Given the description of an element on the screen output the (x, y) to click on. 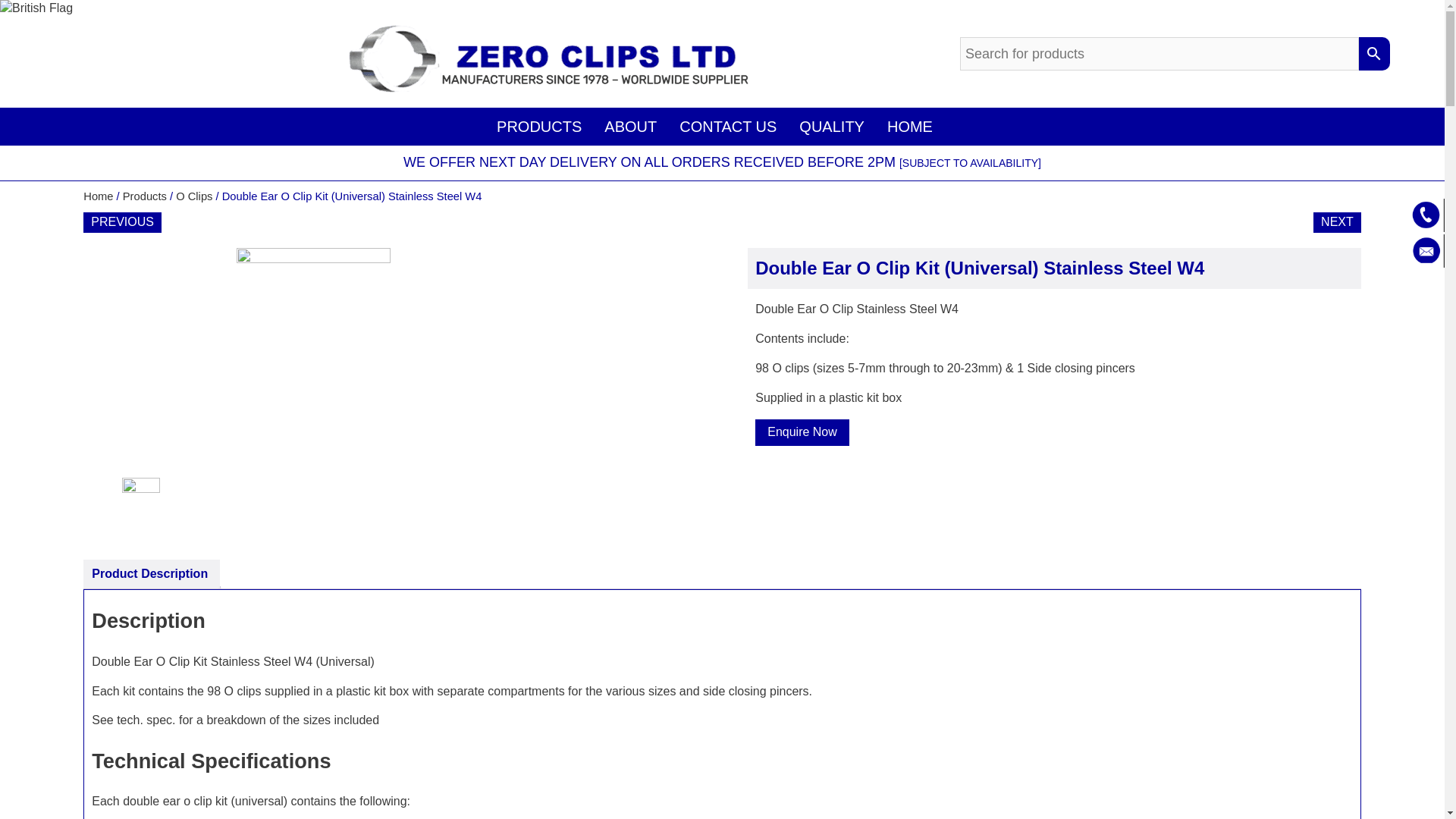
OCLIPKIT NO Writing (160, 506)
Products (144, 196)
OCLIPKIT NO Writing (389, 362)
QUALITY (831, 126)
Home (97, 196)
O Clips (194, 196)
CONTACT US (727, 126)
PRODUCTS (538, 126)
PREVIOUS (121, 222)
ABOUT (630, 126)
